Given the description of an element on the screen output the (x, y) to click on. 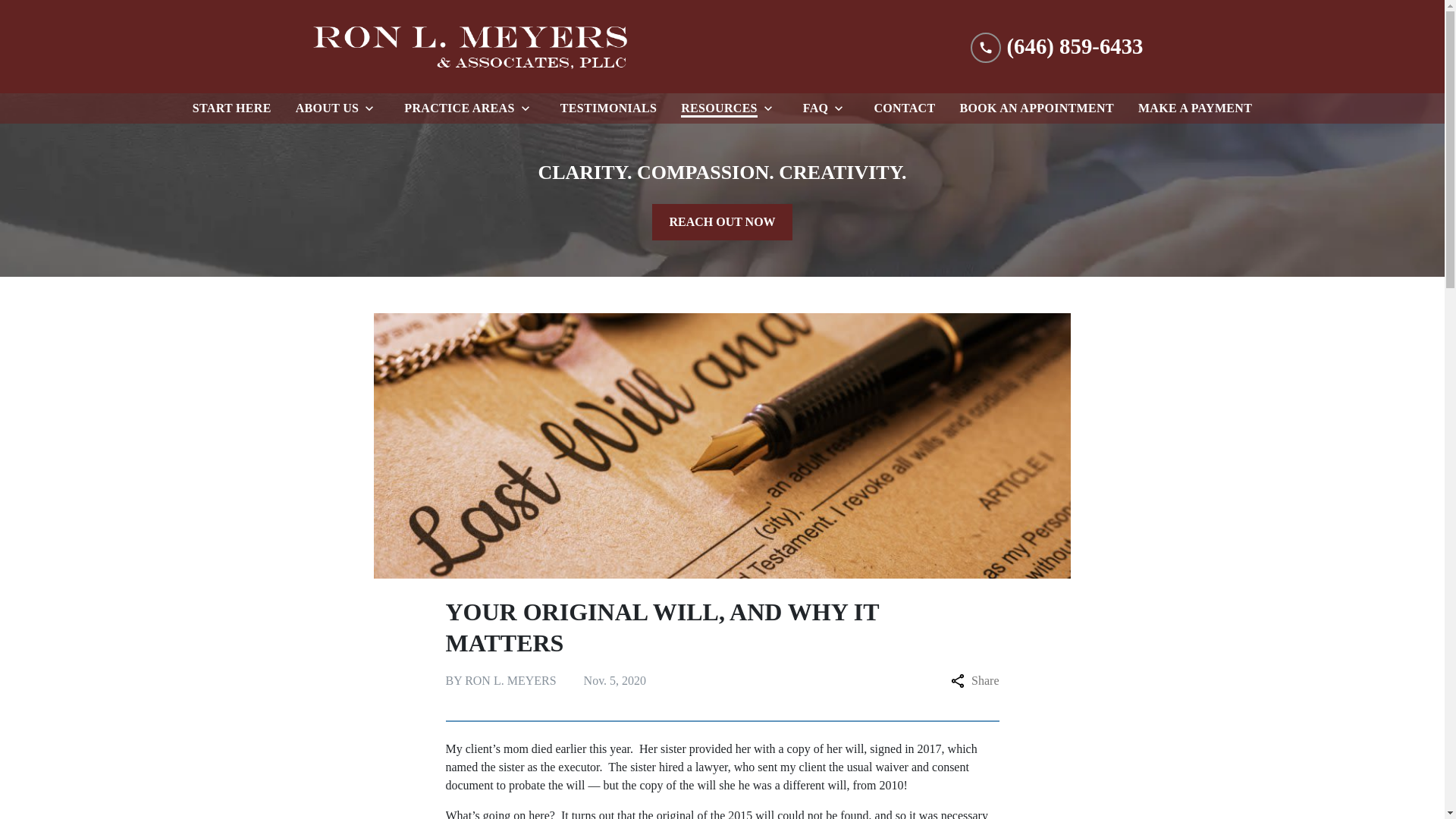
ABOUT US (324, 108)
REACH OUT NOW (722, 221)
TESTIMONIALS (608, 108)
RESOURCES (716, 108)
PRACTICE AREAS (455, 108)
BOOK AN APPOINTMENT (1036, 108)
FAQ (812, 108)
MAKE A PAYMENT (1194, 108)
START HERE (232, 108)
CONTACT (903, 108)
